Given the description of an element on the screen output the (x, y) to click on. 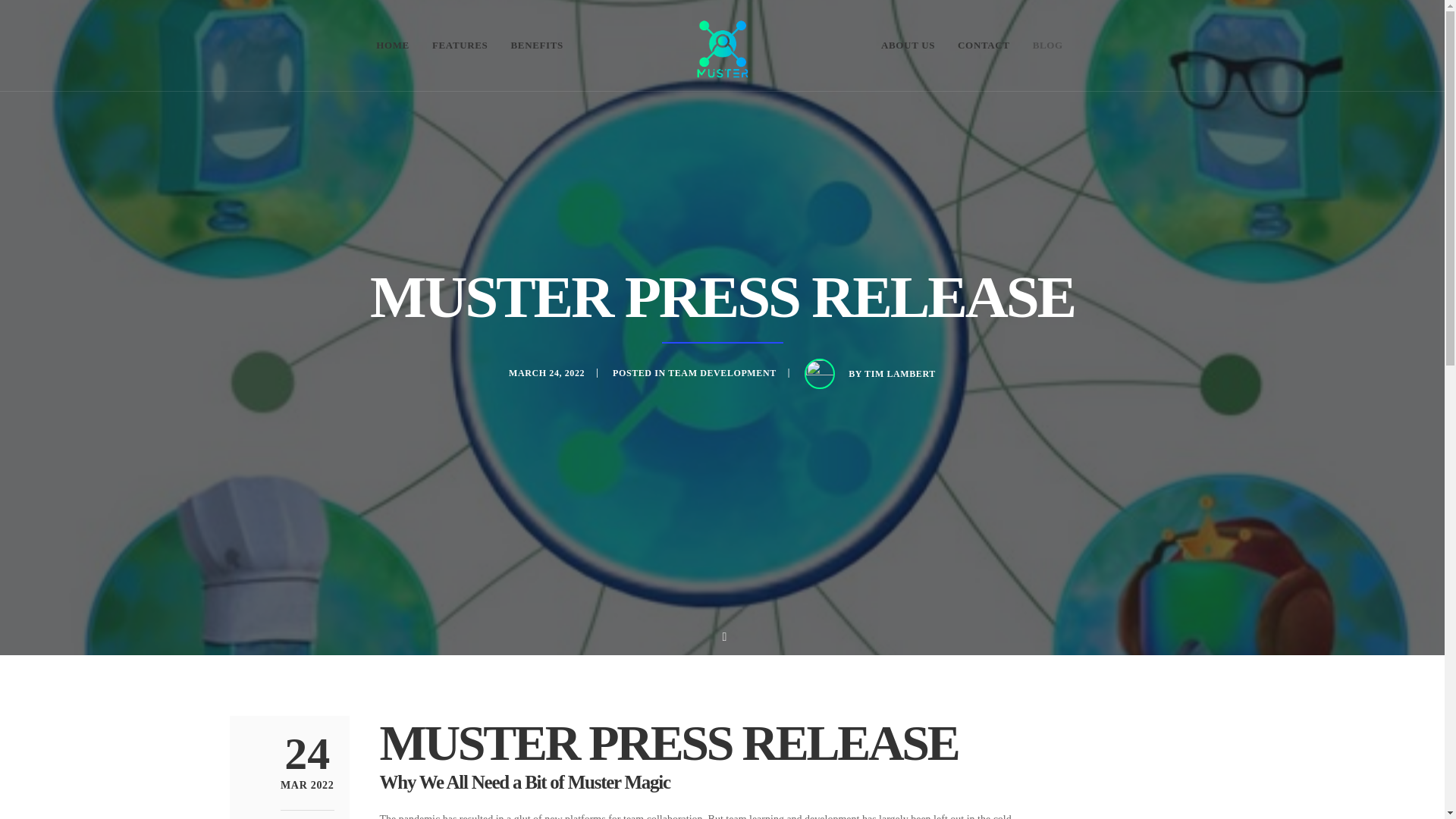
TIM LAMBERT (307, 785)
View all posts in Team Development (900, 373)
TEAM DEVELOPMENT (722, 371)
